Given the description of an element on the screen output the (x, y) to click on. 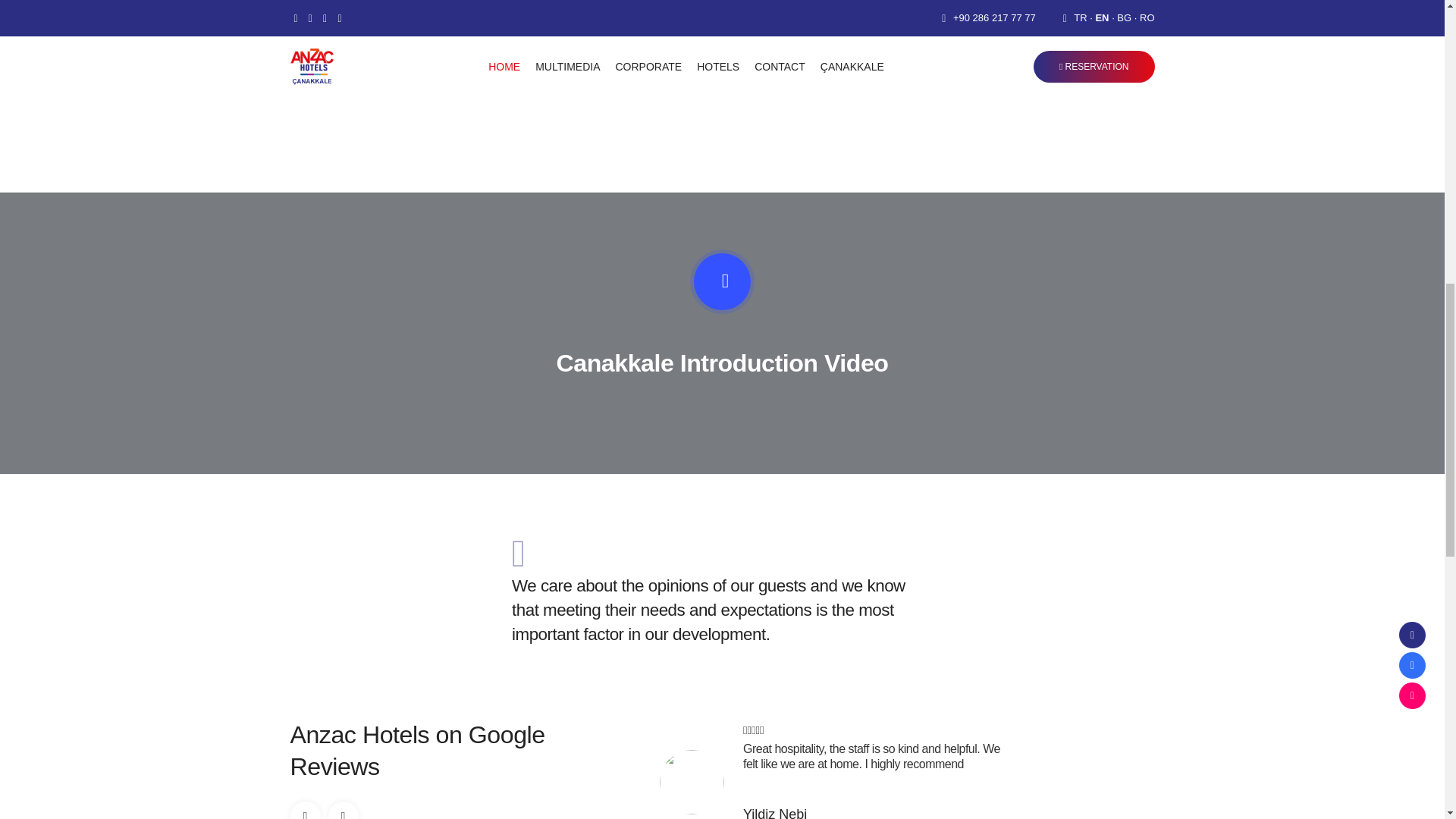
Online Check-in (792, 40)
Online Check-in (792, 40)
Reservation (666, 40)
Reservation (666, 40)
